Given the description of an element on the screen output the (x, y) to click on. 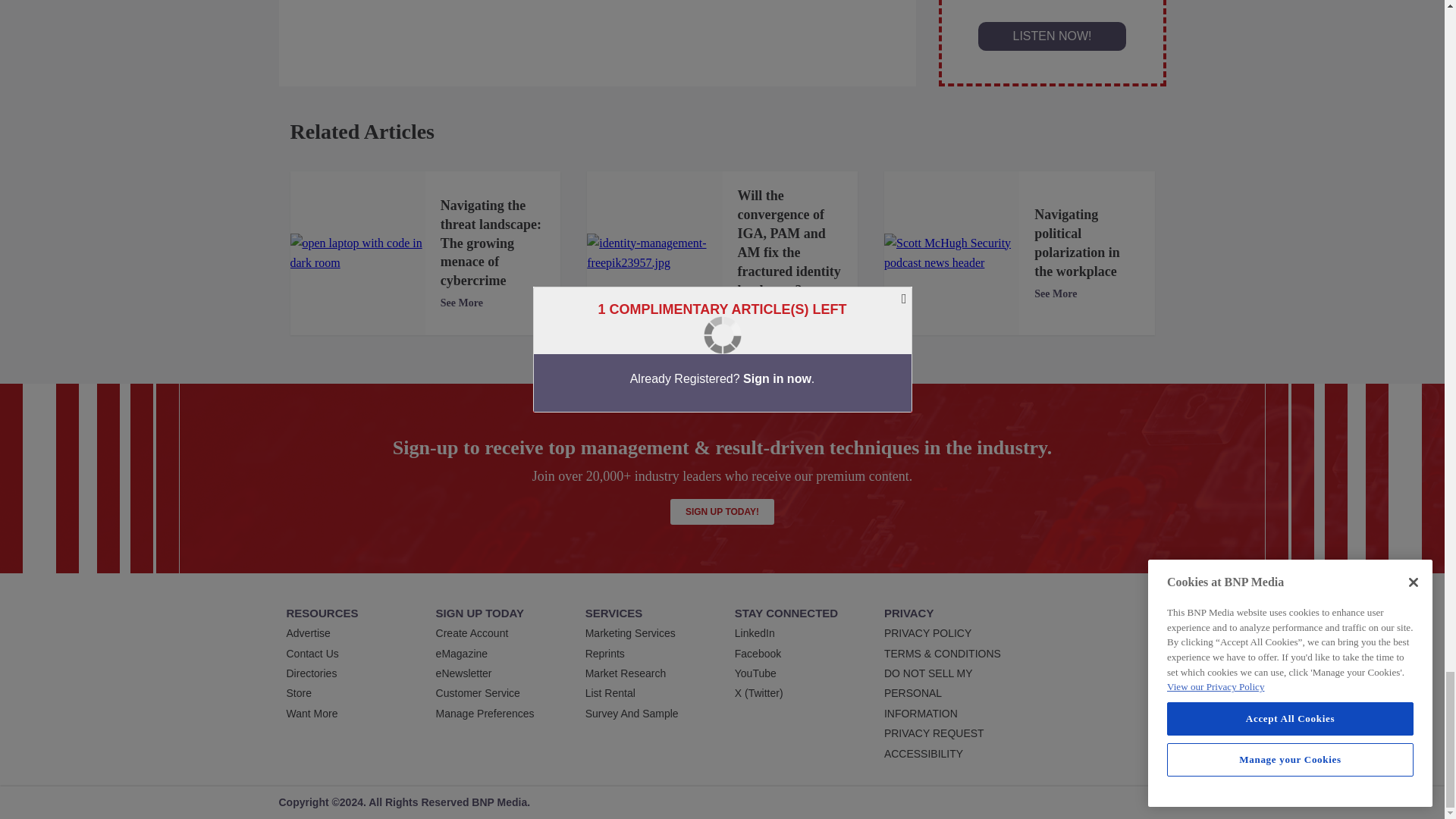
Scott McHugh Security podcast news header (951, 253)
open laptop with code in dark room (357, 253)
identity-management-freepik23957 (654, 253)
